Given the description of an element on the screen output the (x, y) to click on. 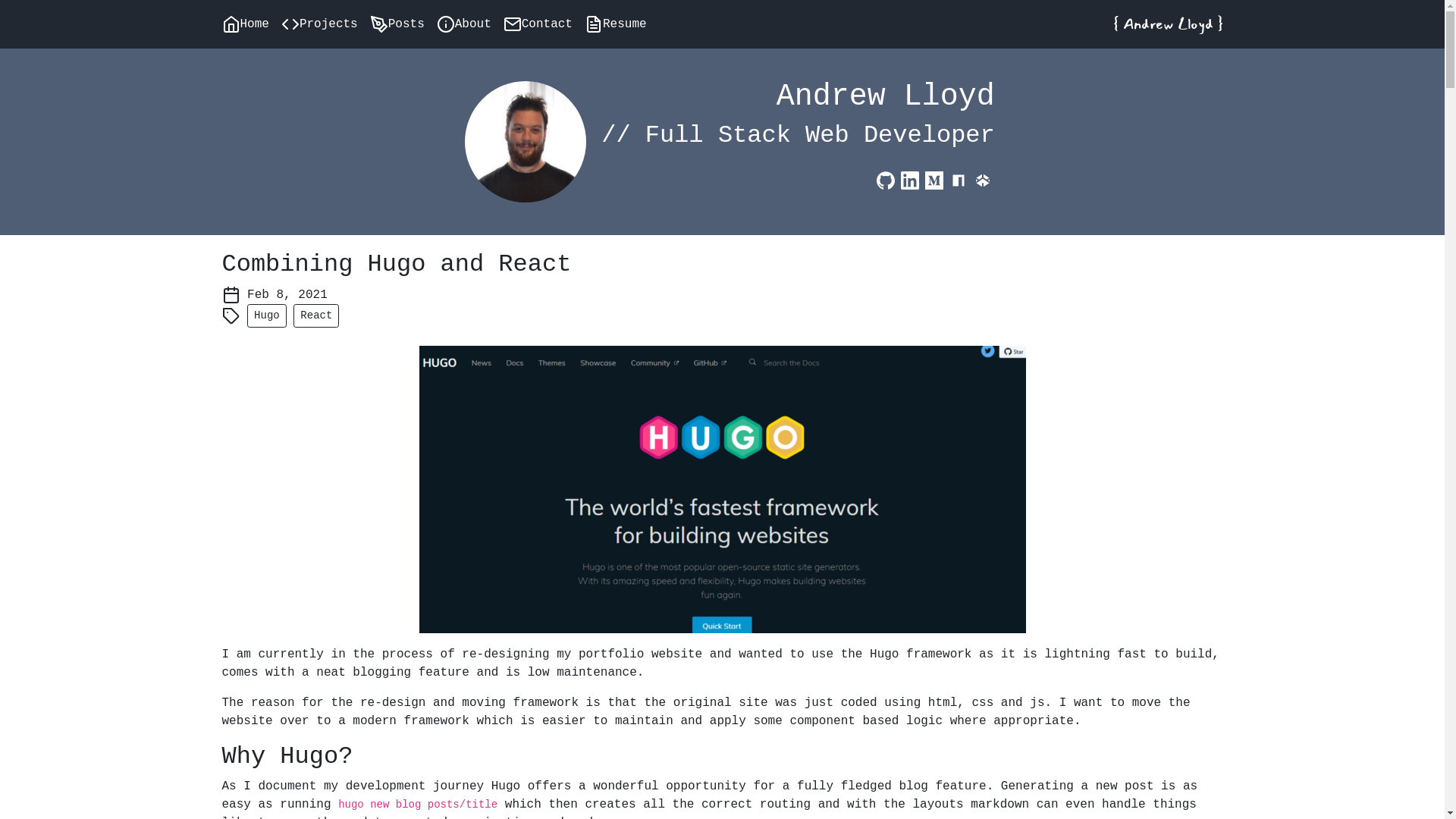
Projects Element type: text (325, 24)
Resume Element type: text (621, 24)
Hugo Element type: text (266, 315)
React Element type: text (315, 315)
Posts Element type: text (403, 24)
About Element type: text (469, 24)
Codepen Element type: hover (982, 180)
Contact Element type: text (543, 24)
Home Element type: text (250, 24)
